Given the description of an element on the screen output the (x, y) to click on. 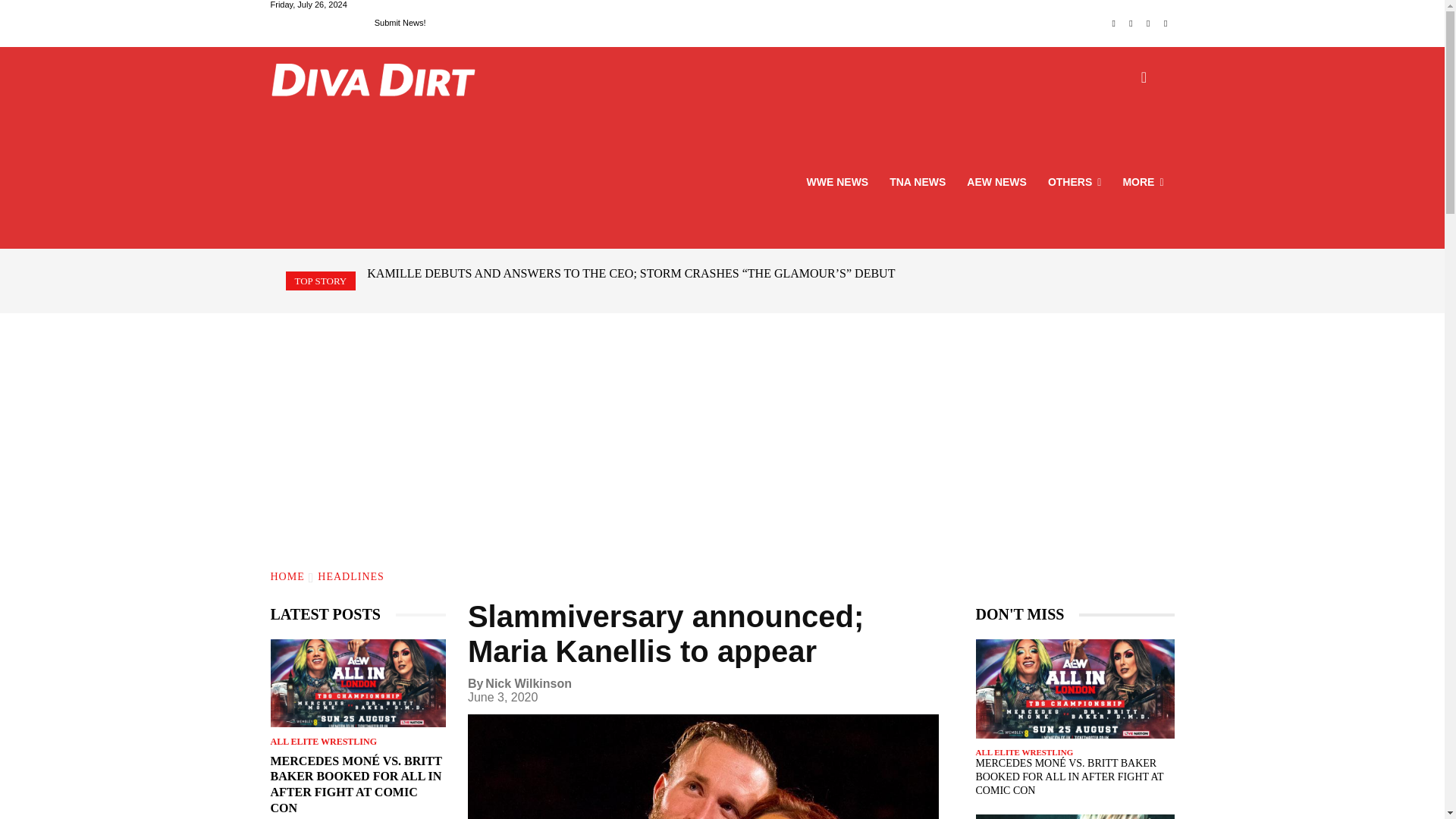
View all posts in Headlines (350, 576)
Youtube (1165, 23)
Twitter (1148, 23)
Facebook (1113, 23)
Instagram (1131, 23)
